Given the description of an element on the screen output the (x, y) to click on. 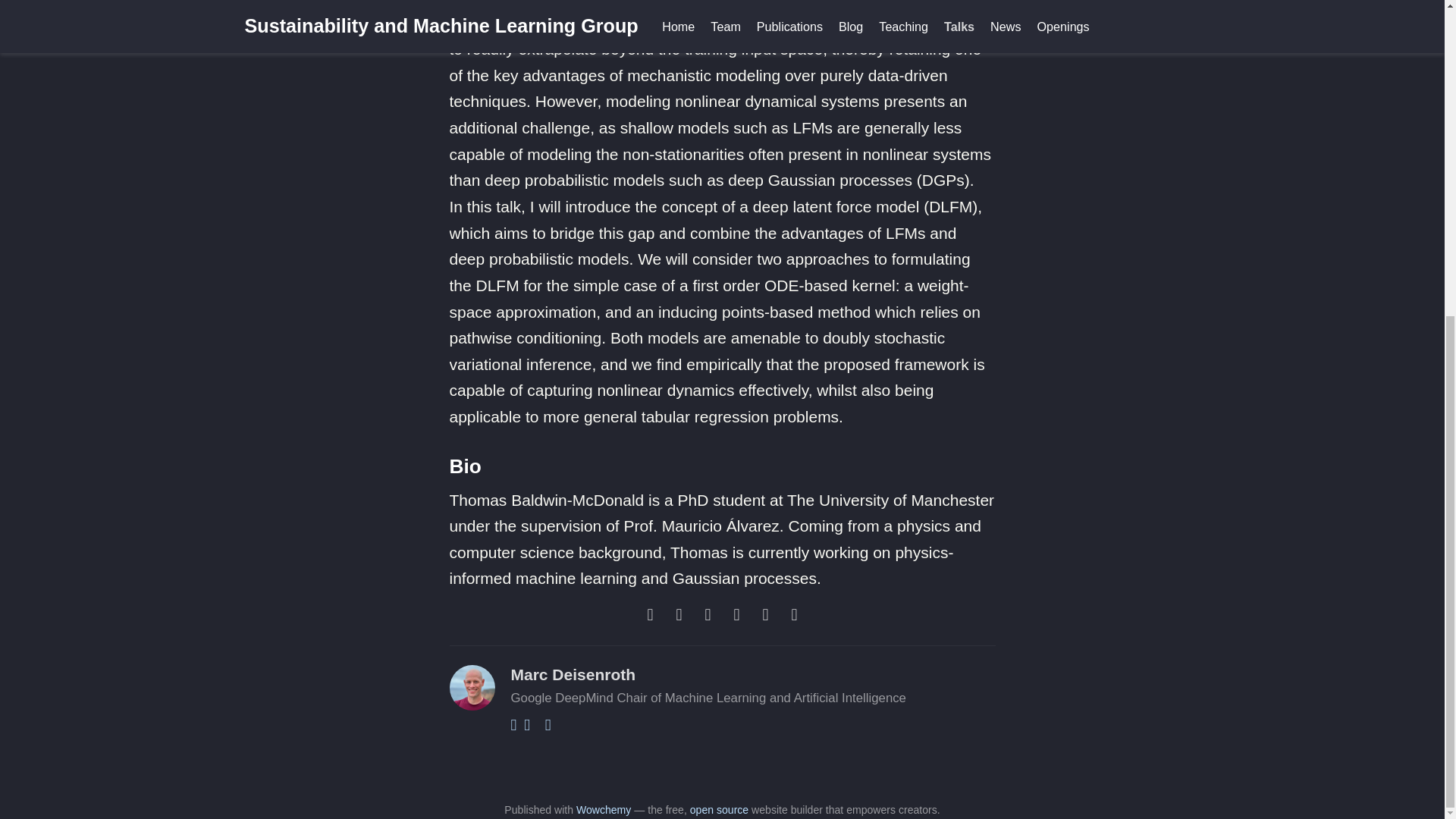
Wowchemy (603, 809)
Marc Deisenroth (573, 674)
open source (719, 809)
